Given the description of an element on the screen output the (x, y) to click on. 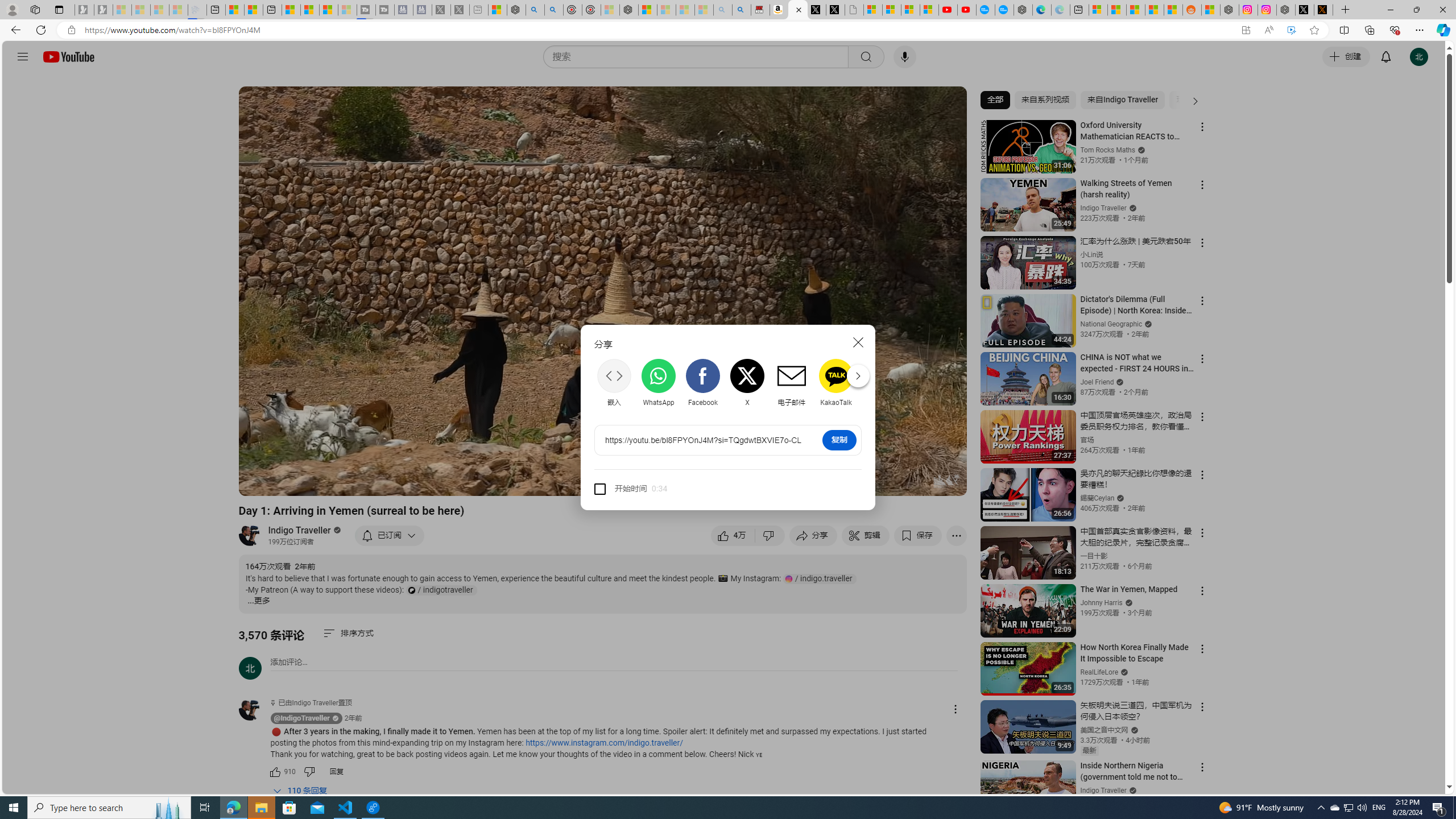
Instagram Channel Link: indigo.traveller (819, 578)
Class: ytp-subtitles-button-icon (837, 482)
